Given the description of an element on the screen output the (x, y) to click on. 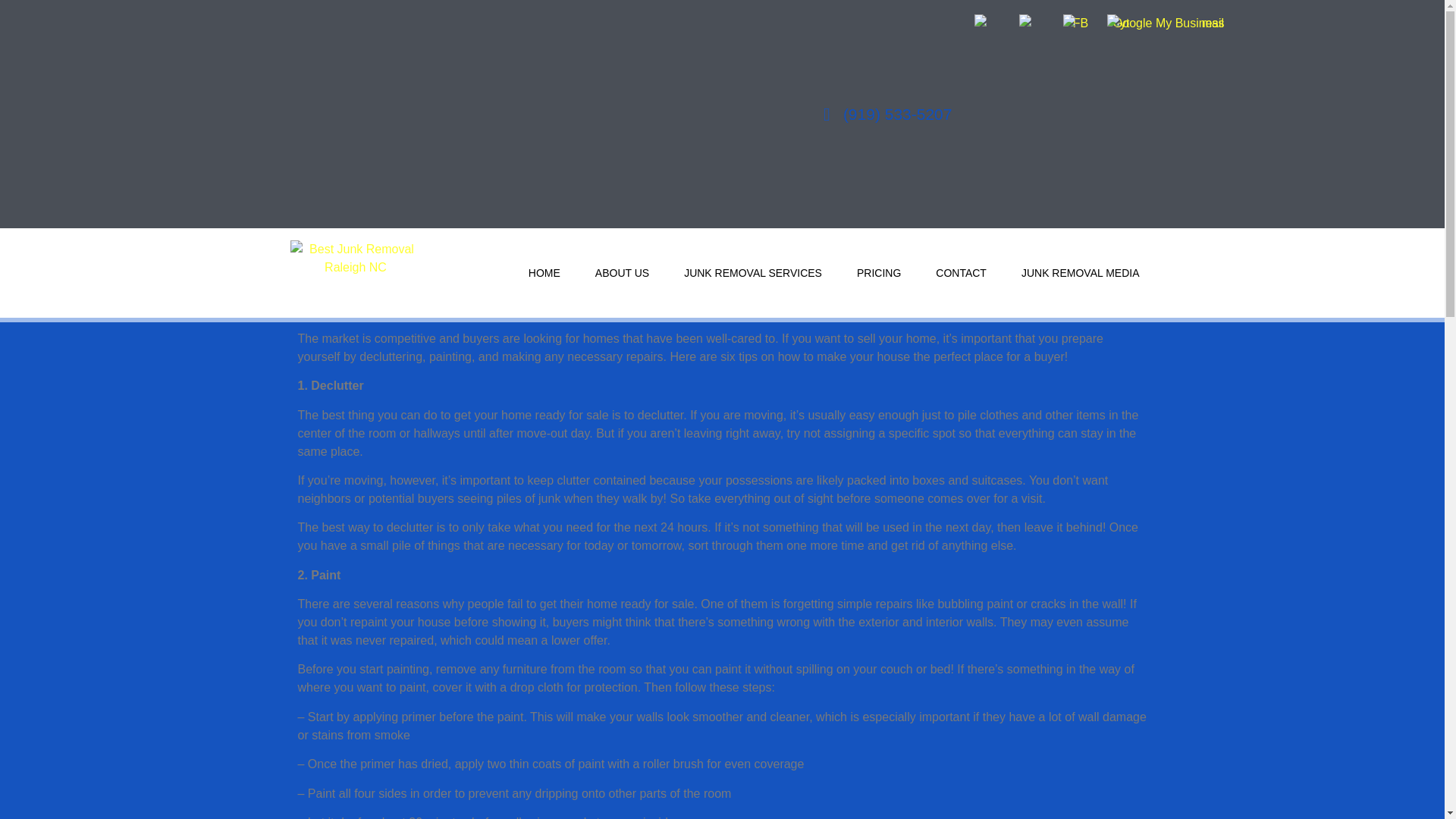
ABOUT US (621, 272)
PRICING (878, 272)
CONTACT (960, 272)
JUNK REMOVAL MEDIA (1080, 272)
JUNK REMOVAL SERVICES (752, 272)
HOME (544, 272)
